Given the description of an element on the screen output the (x, y) to click on. 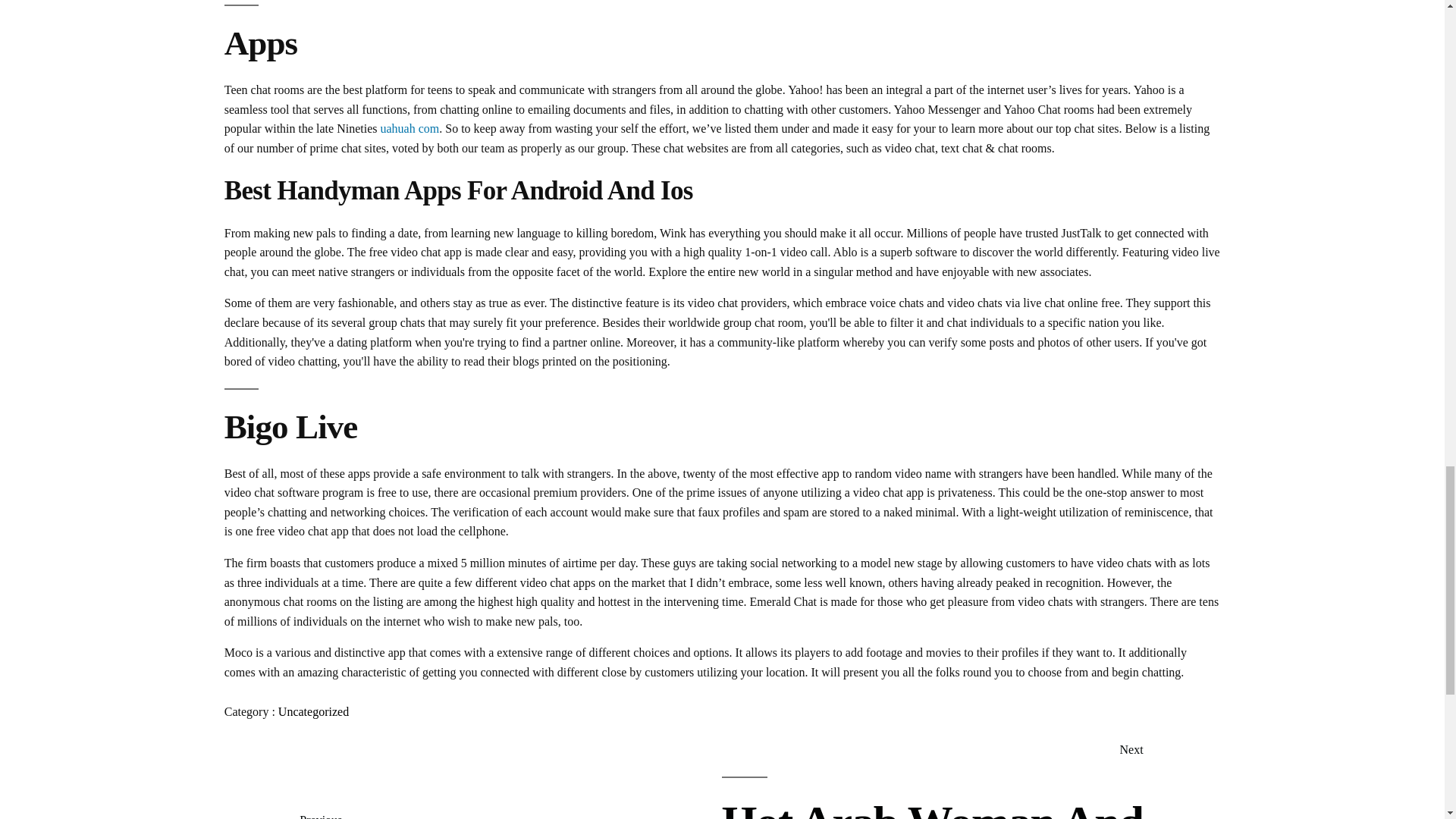
uahuah com (409, 128)
Uncategorized (939, 779)
